Given the description of an element on the screen output the (x, y) to click on. 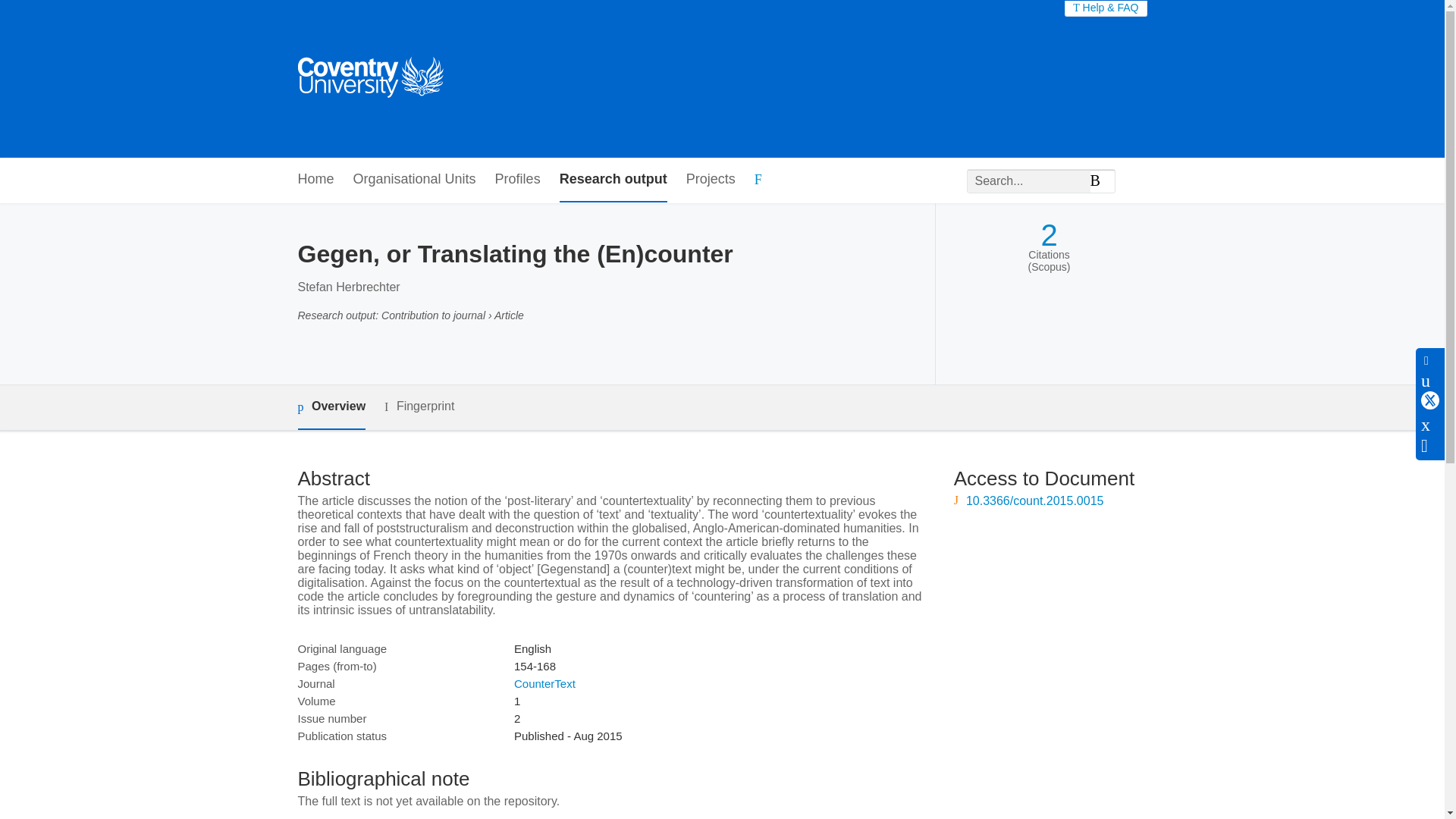
Projects (710, 180)
Coventry University Home (369, 78)
CounterText (544, 683)
Research output (612, 180)
Fingerprint (419, 406)
Profiles (517, 180)
Overview (331, 406)
Organisational Units (414, 180)
